Given the description of an element on the screen output the (x, y) to click on. 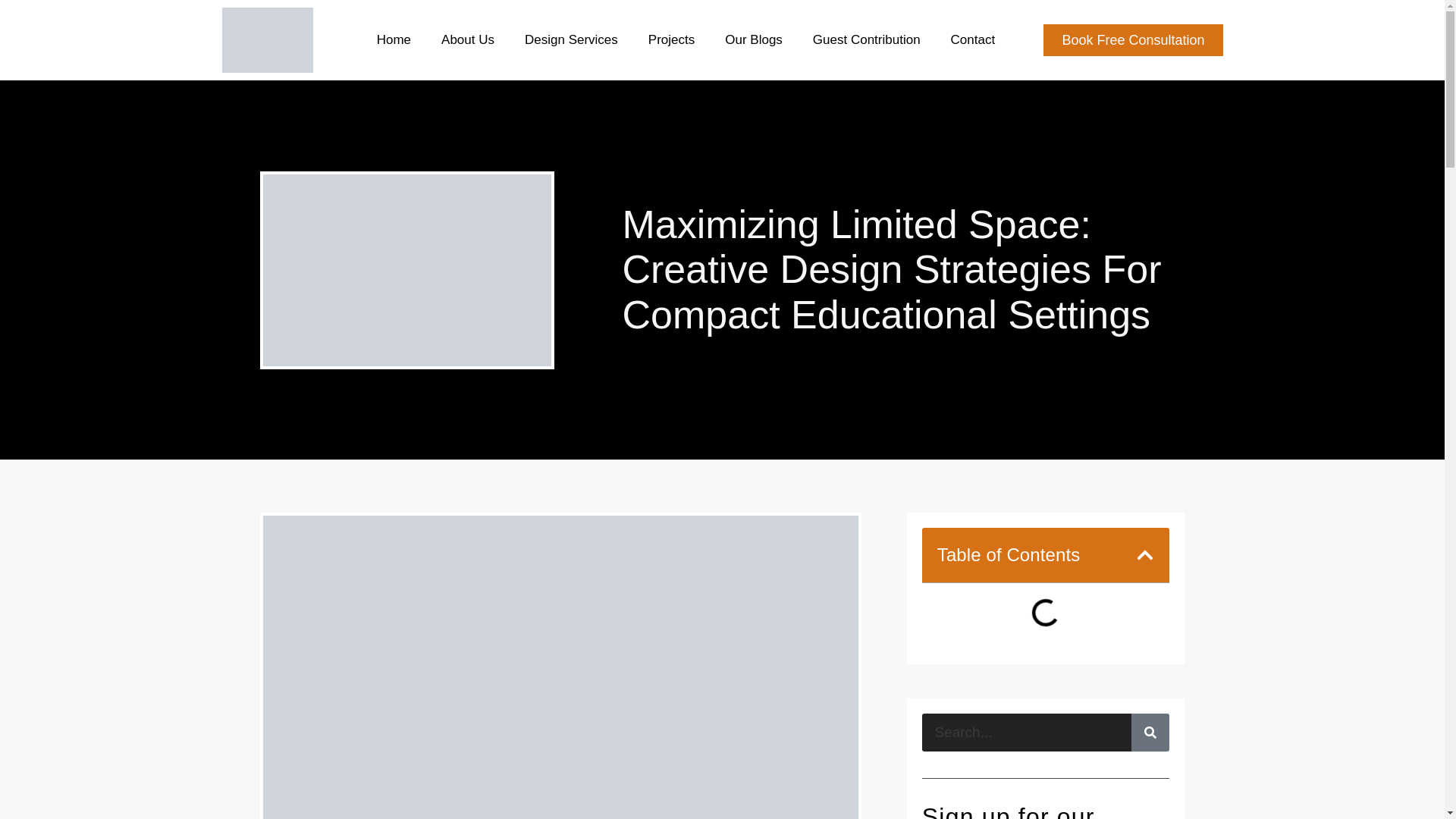
Book Free Consultation (1133, 40)
Design Services (570, 39)
Our Blogs (753, 39)
Guest Contribution (866, 39)
Home (393, 39)
About Us (467, 39)
Contact (973, 39)
Projects (671, 39)
